Given the description of an element on the screen output the (x, y) to click on. 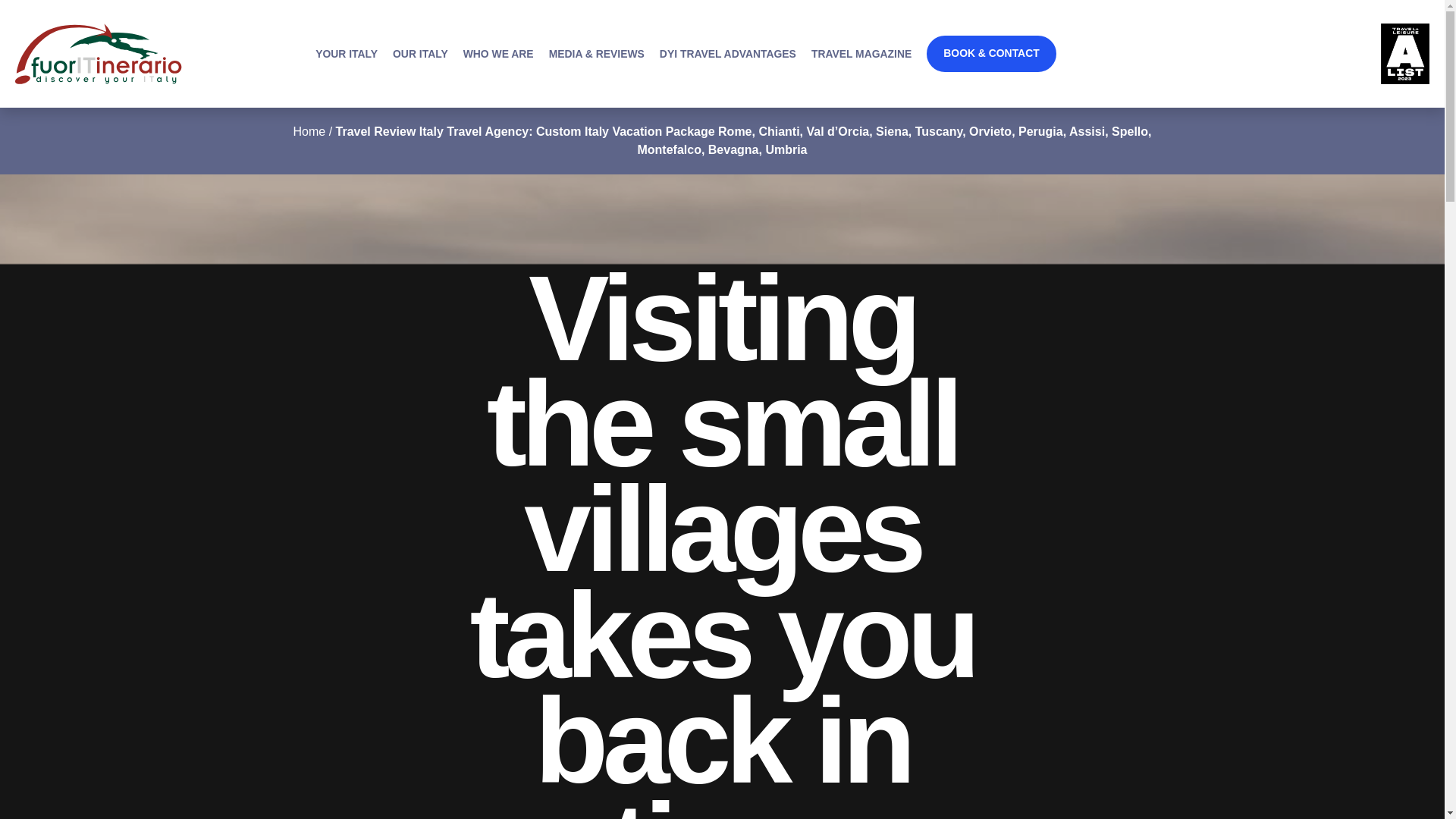
WHO WE ARE (498, 53)
YOUR ITALY (346, 53)
TRAVEL MAGAZINE (860, 53)
OUR ITALY (420, 53)
Home (308, 131)
DYI TRAVEL ADVANTAGES (727, 53)
